Given the description of an element on the screen output the (x, y) to click on. 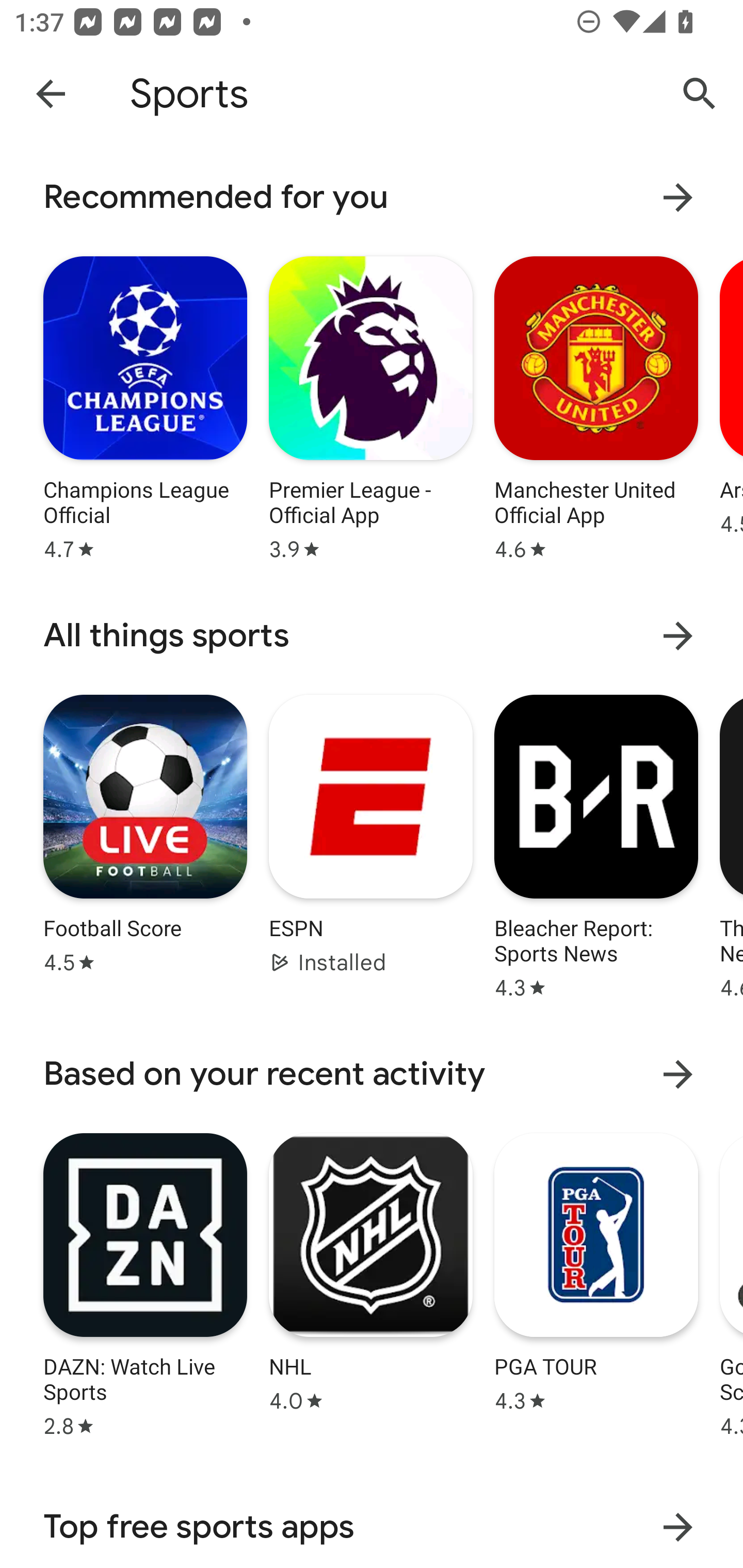
Navigate up (50, 92)
Search Google Play (699, 93)
More results for Recommended for you (677, 197)
App: Champions League Official
Star rating: 4.7


 (144, 405)
More results for All things sports (677, 635)
App: Football Score
Star rating: 4.5


 (144, 844)
App: ESPN
Installed

 (370, 844)
More results for Based on your recent activity (677, 1074)
App: DAZN: Watch Live Sports
Star rating: 2.8


 (144, 1282)
App: NHL
Star rating: 4.0


 (370, 1282)
App: PGA TOUR
Star rating: 4.3


 (595, 1282)
More results for Top free sports apps (677, 1527)
